Given the description of an element on the screen output the (x, y) to click on. 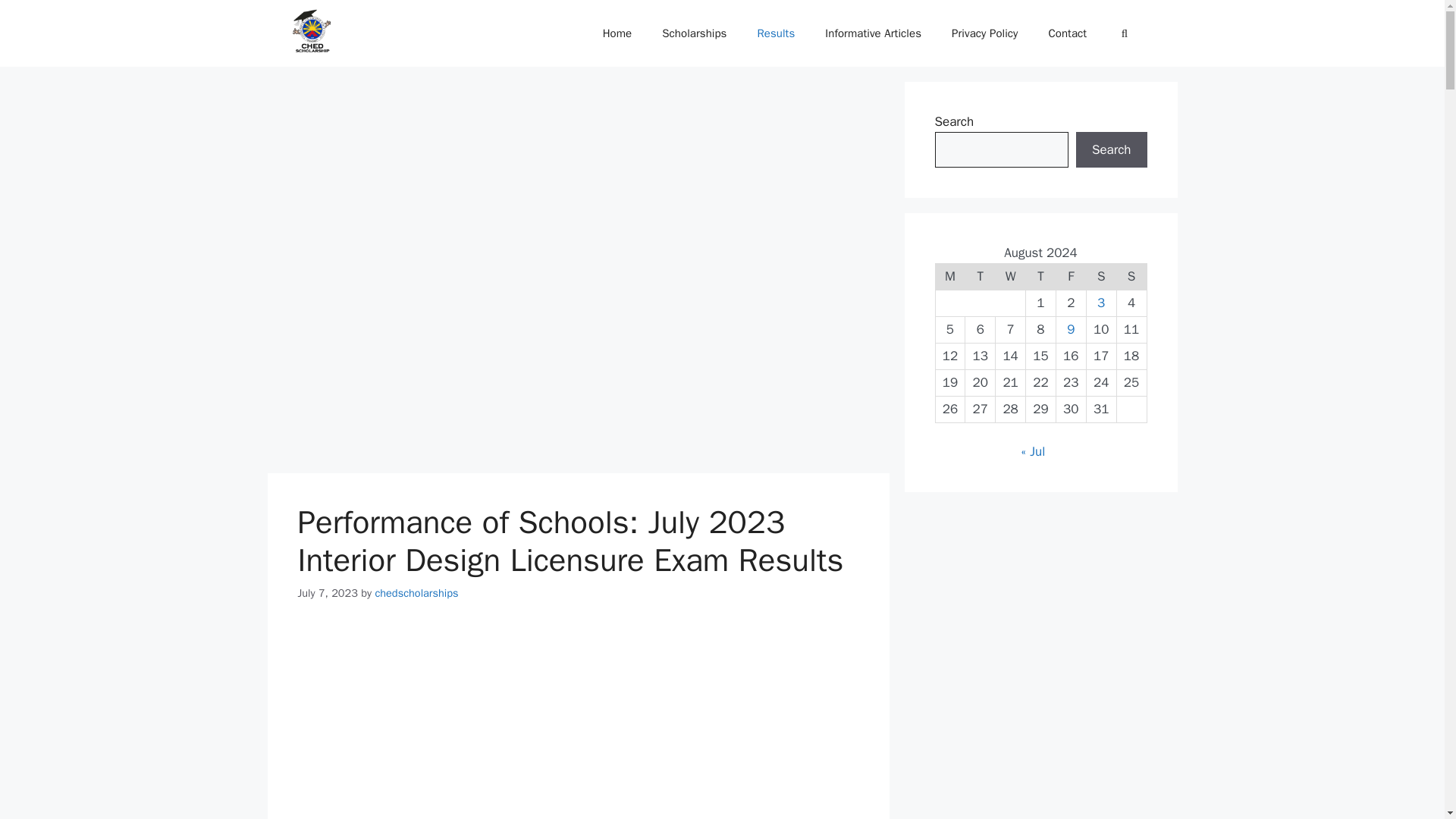
View all posts by chedscholarships (416, 591)
Results (775, 33)
Search (1111, 149)
Scholarships (693, 33)
Informative Articles (872, 33)
chedscholarships (416, 591)
Home (617, 33)
Privacy Policy (984, 33)
Advertisement (578, 721)
